Given the description of an element on the screen output the (x, y) to click on. 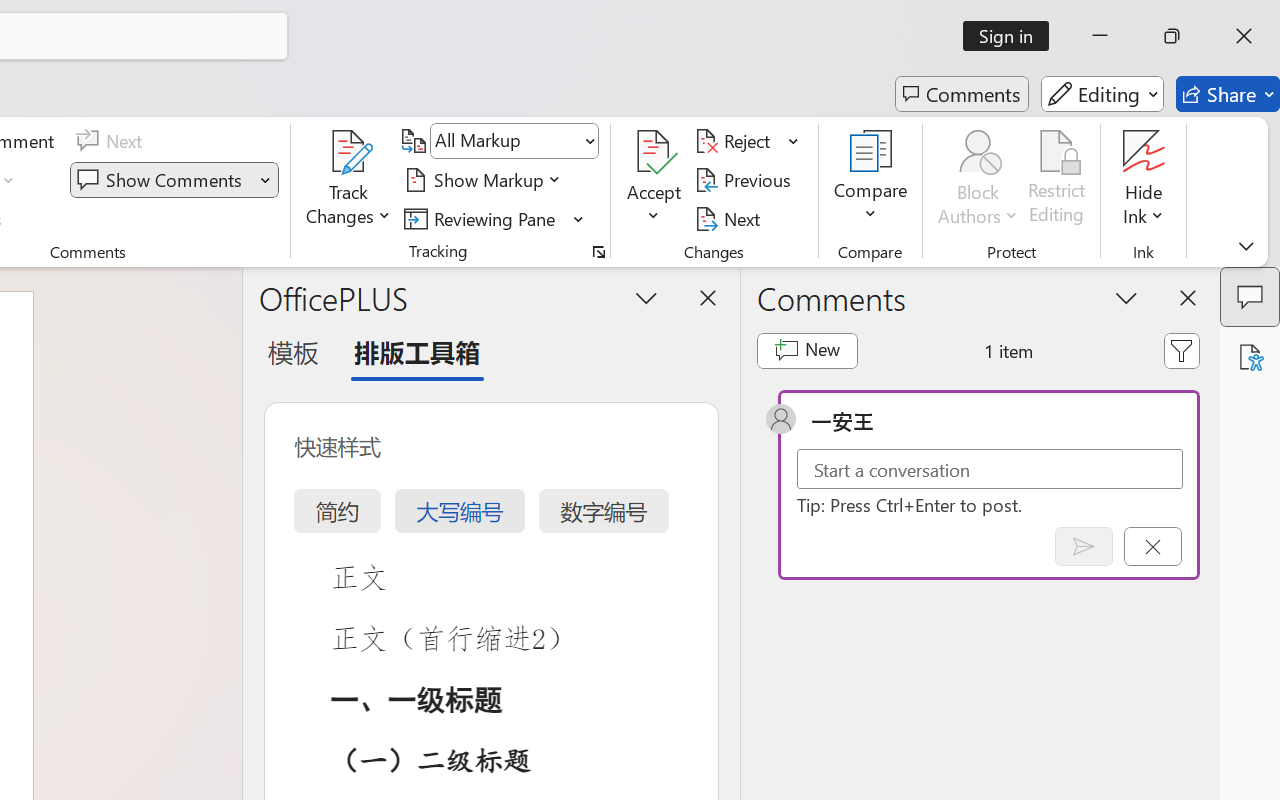
Cancel (1152, 546)
Reject (747, 141)
Hide Ink (1144, 179)
